Given the description of an element on the screen output the (x, y) to click on. 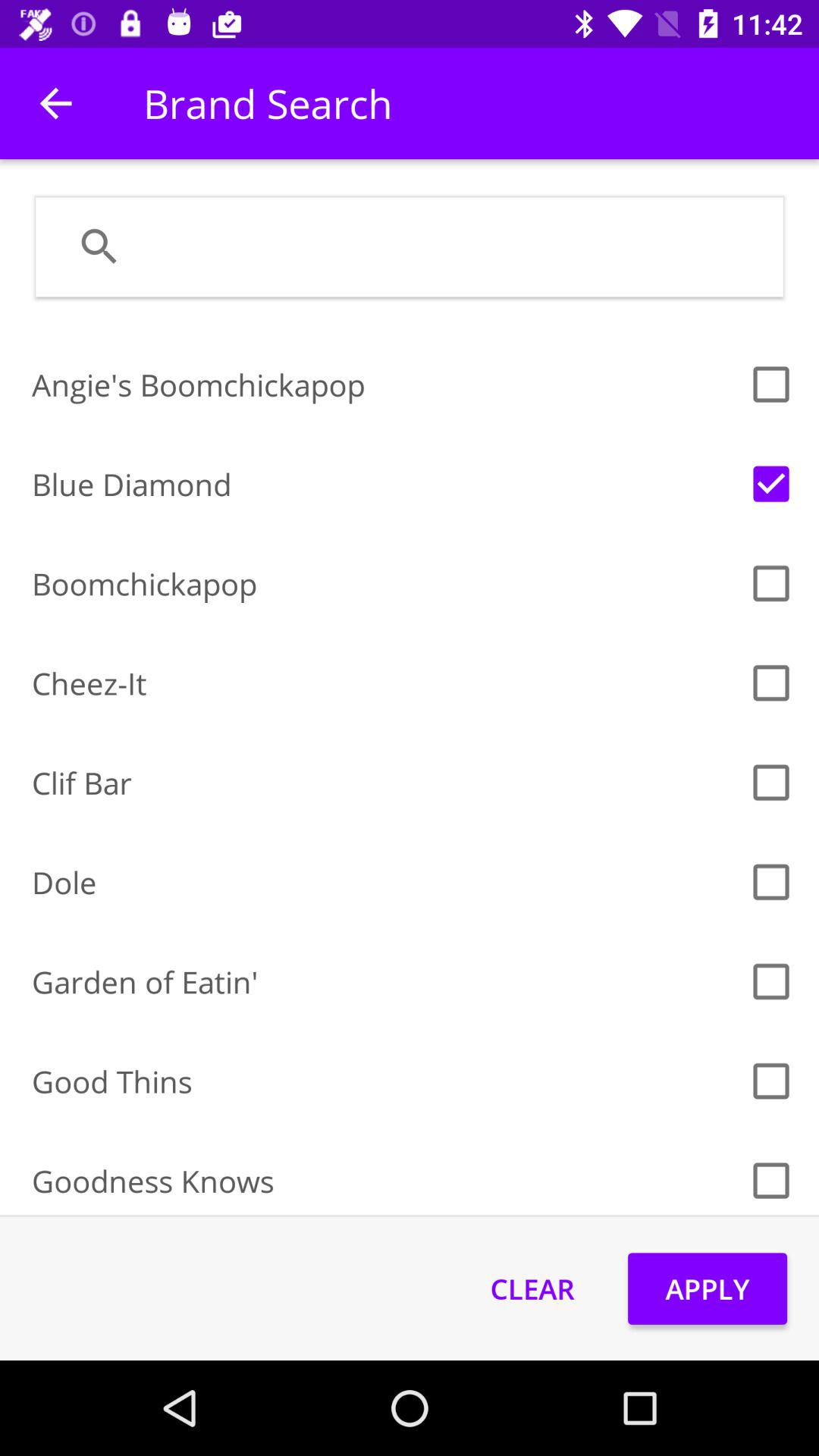
this field selects the location where the search term will be inserted (449, 246)
